Given the description of an element on the screen output the (x, y) to click on. 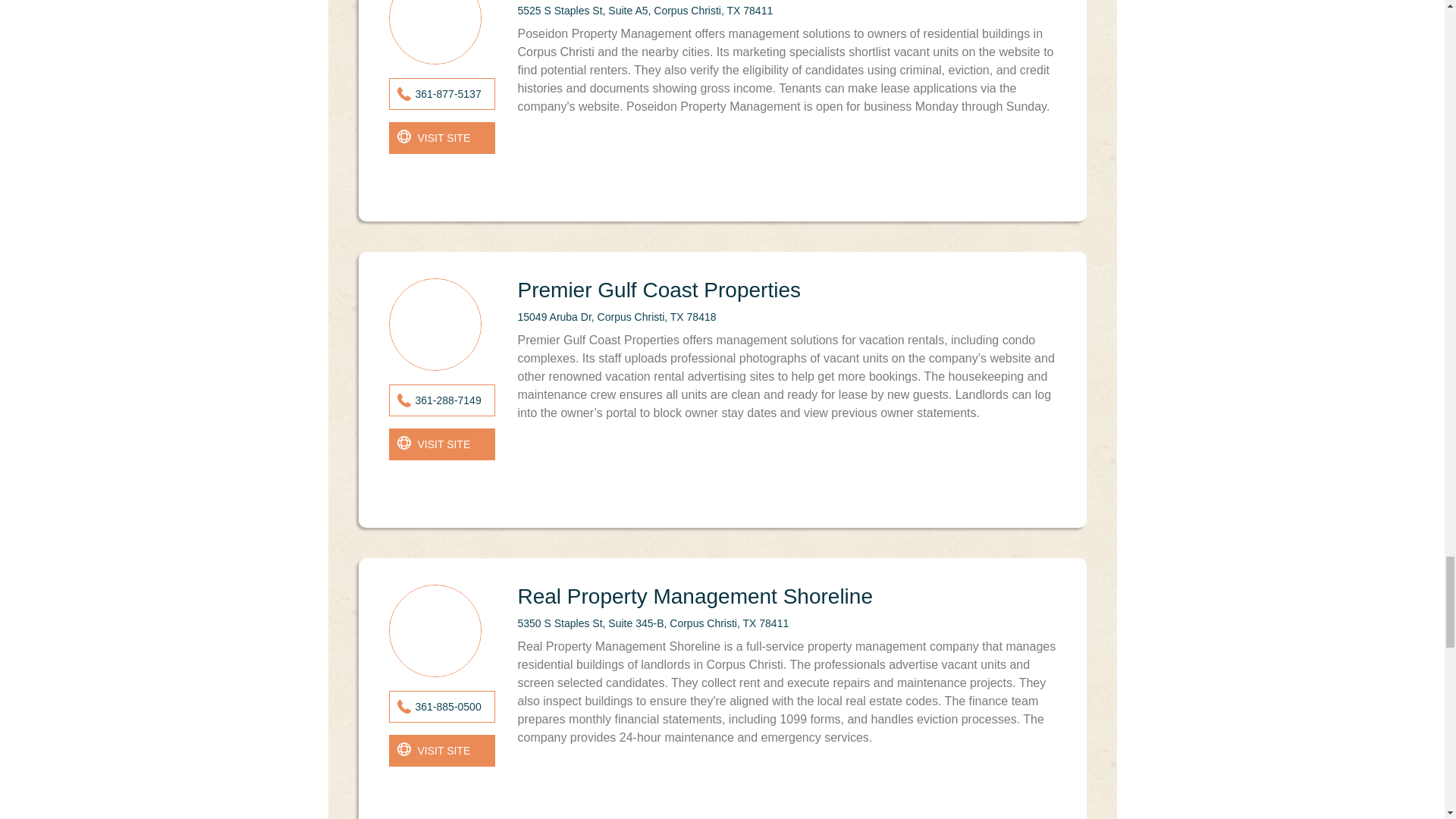
opens in a new window (441, 137)
opens in a new window (441, 750)
opens in a new window (441, 444)
